Given the description of an element on the screen output the (x, y) to click on. 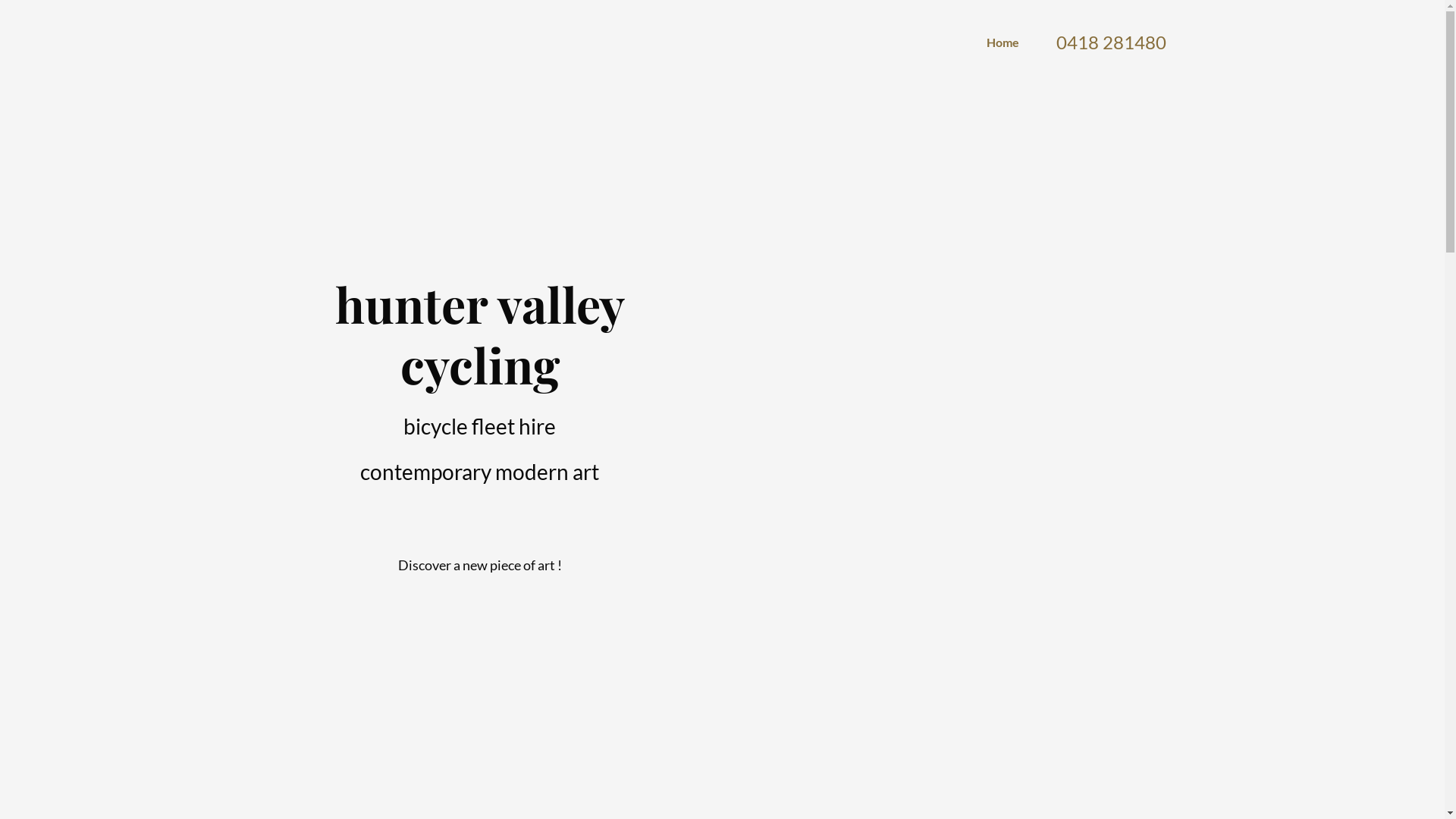
Home Element type: text (1001, 42)
